Given the description of an element on the screen output the (x, y) to click on. 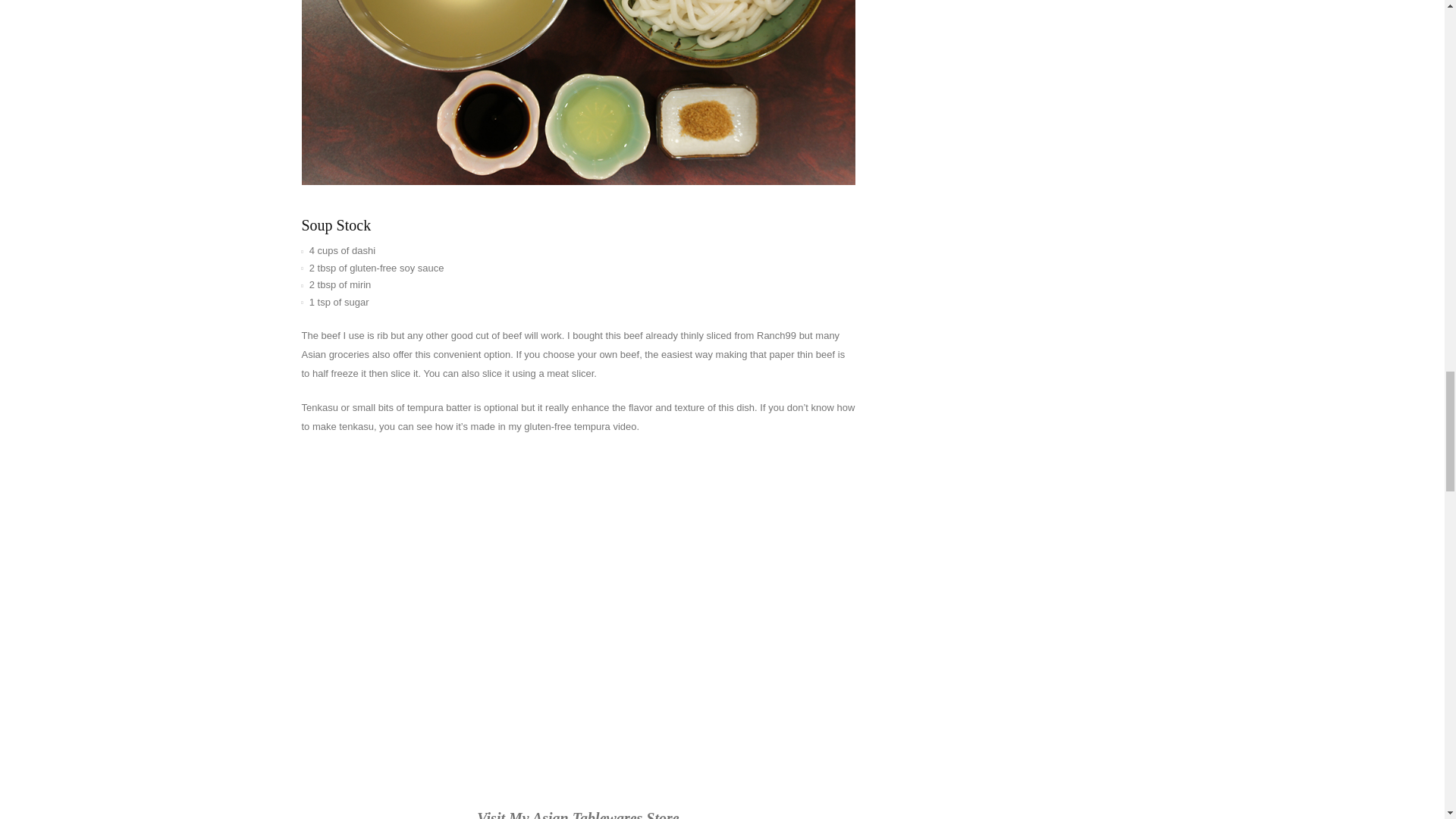
Visit My Asian Tablewares Store (577, 814)
